Given the description of an element on the screen output the (x, y) to click on. 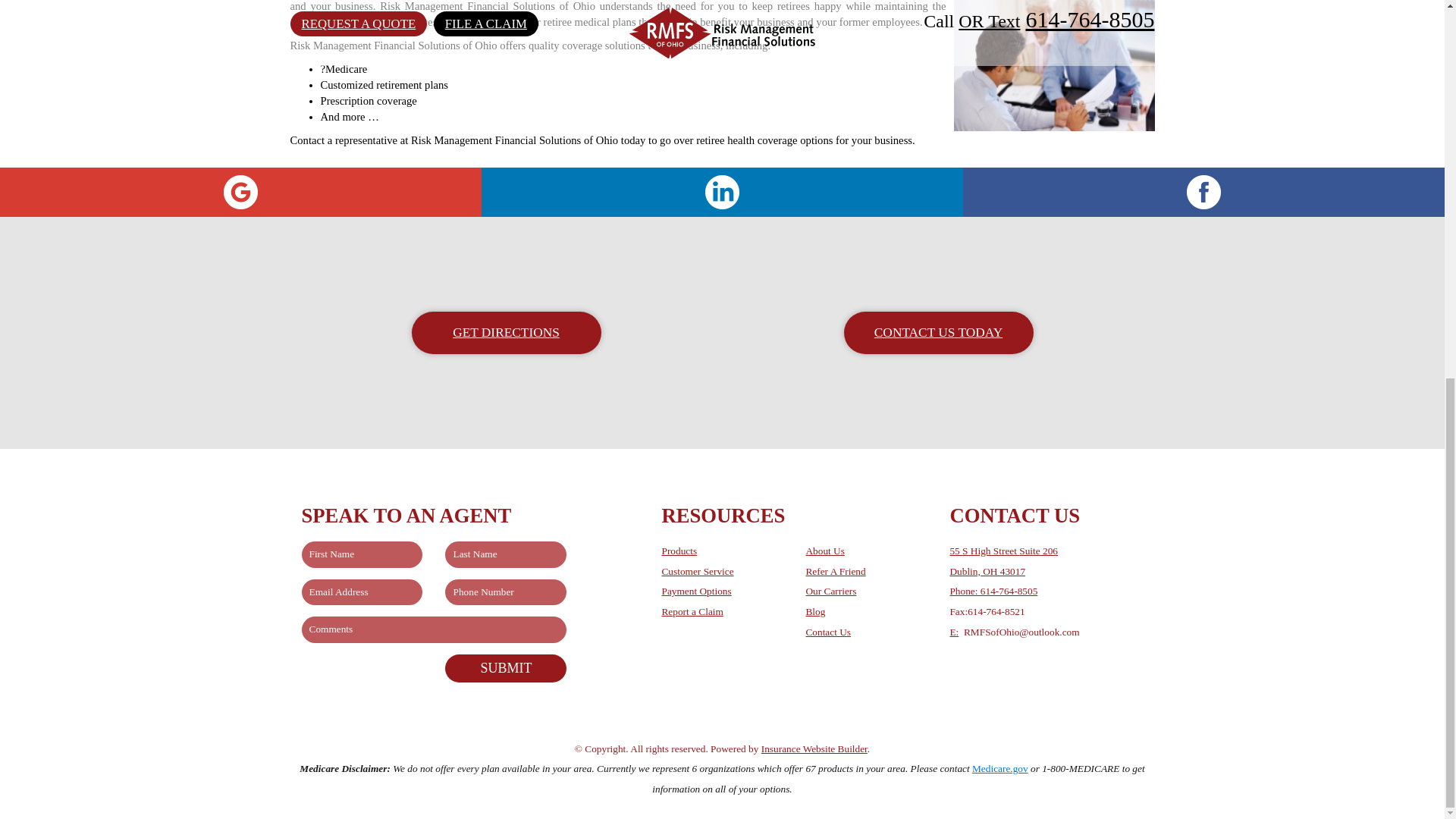
Facebook (1203, 192)
LinkedIn (722, 192)
